Given the description of an element on the screen output the (x, y) to click on. 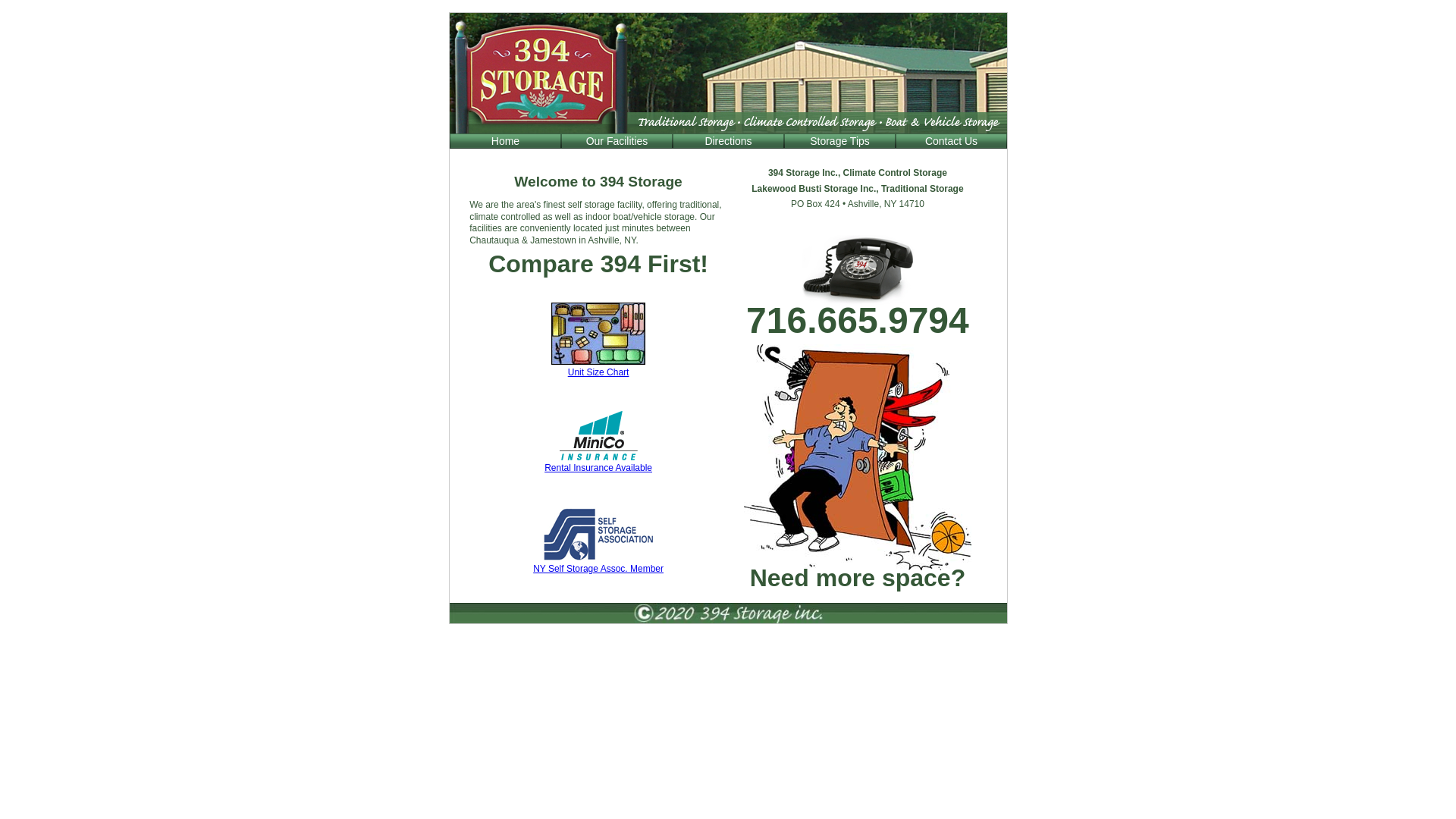
Home Element type: text (504, 140)
Directions Element type: text (727, 140)
Contact Us Element type: text (950, 140)
Storage Tips Element type: text (839, 140)
Rental Insurance Available Element type: text (598, 462)
Unit Size Chart Element type: text (597, 366)
NY Self Storage Assoc. Member Element type: text (598, 563)
Our Facilities Element type: text (616, 140)
